Given the description of an element on the screen output the (x, y) to click on. 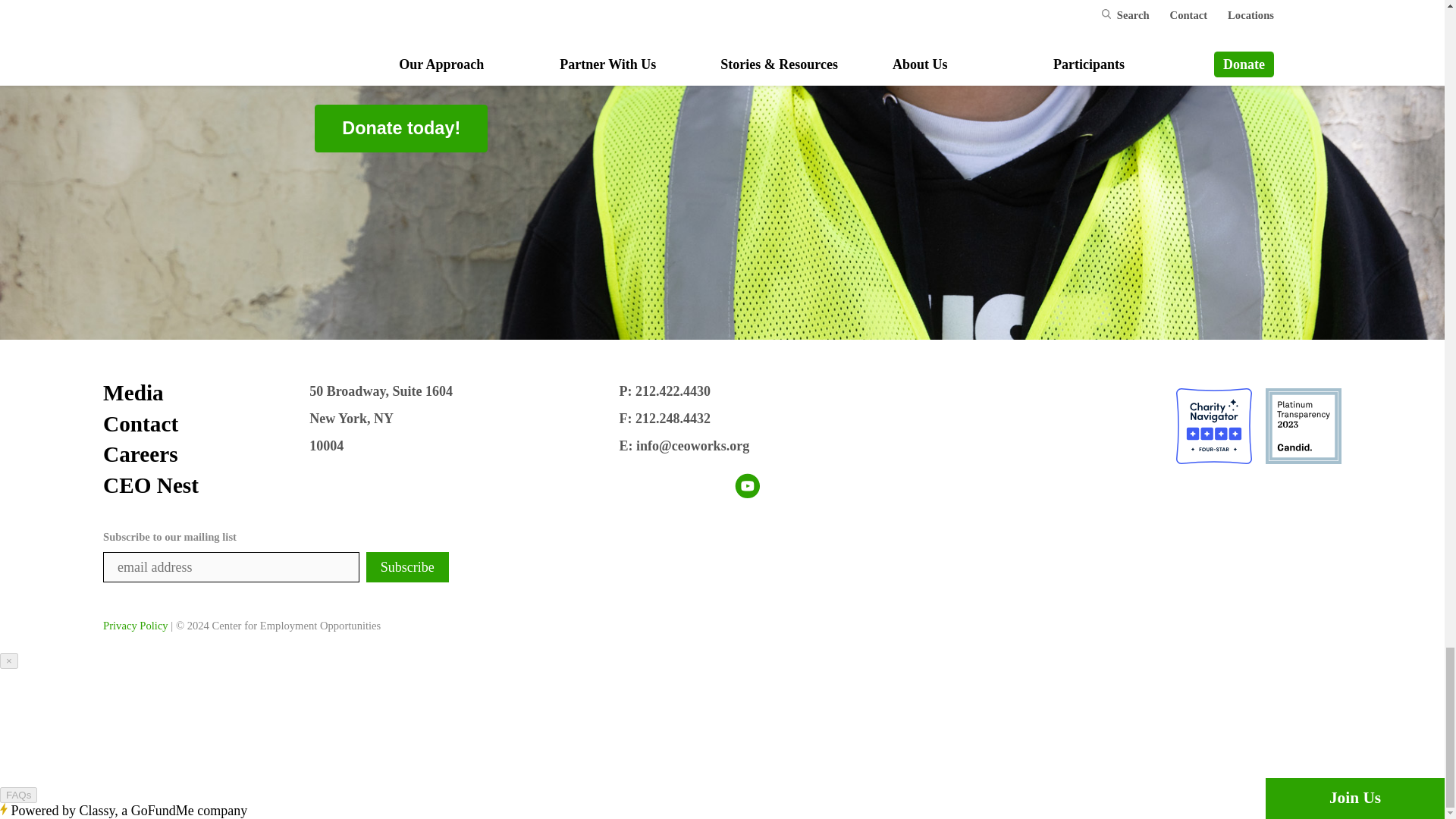
Subscribe (407, 567)
Media (205, 392)
Donate today! (400, 128)
